Given the description of an element on the screen output the (x, y) to click on. 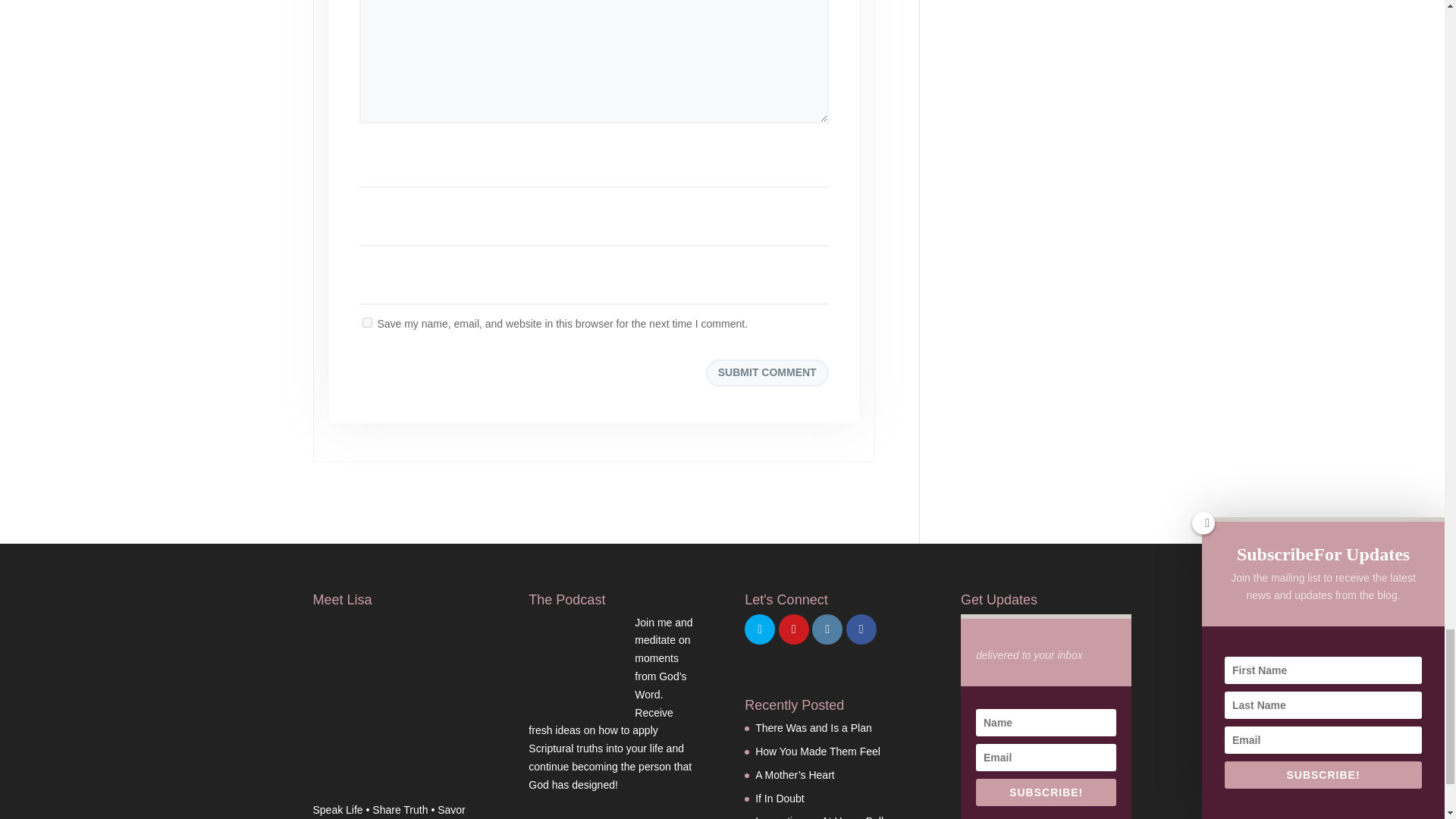
Submit Comment (767, 372)
There Was and Is a Plan (813, 727)
Innovating an At Home Balloon Parade! (828, 816)
yes (367, 322)
How You Made Them Feel (817, 751)
If In Doubt (780, 798)
Submit Comment (767, 372)
